Given the description of an element on the screen output the (x, y) to click on. 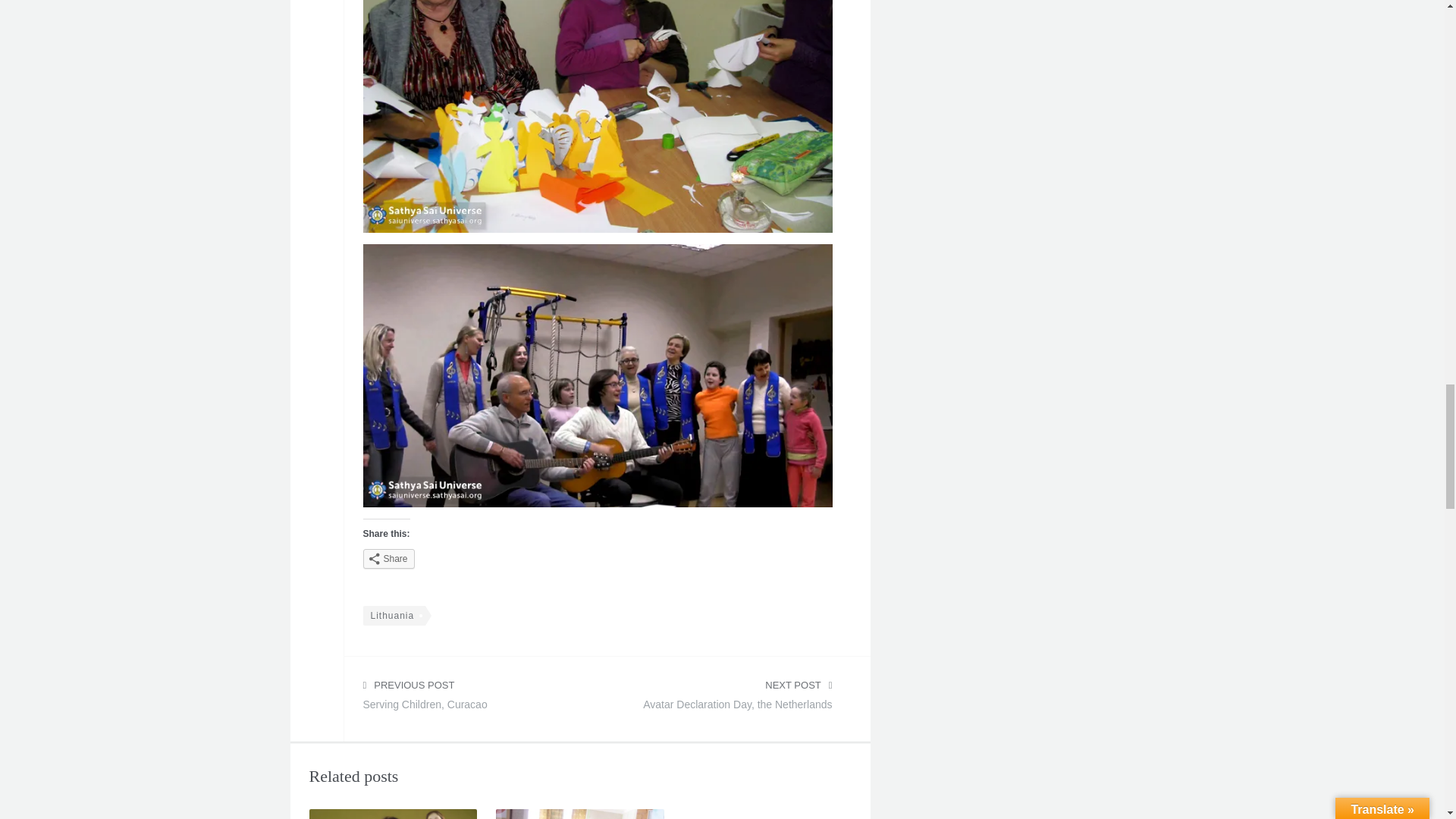
Share (387, 558)
Lithuania (470, 699)
